Given the description of an element on the screen output the (x, y) to click on. 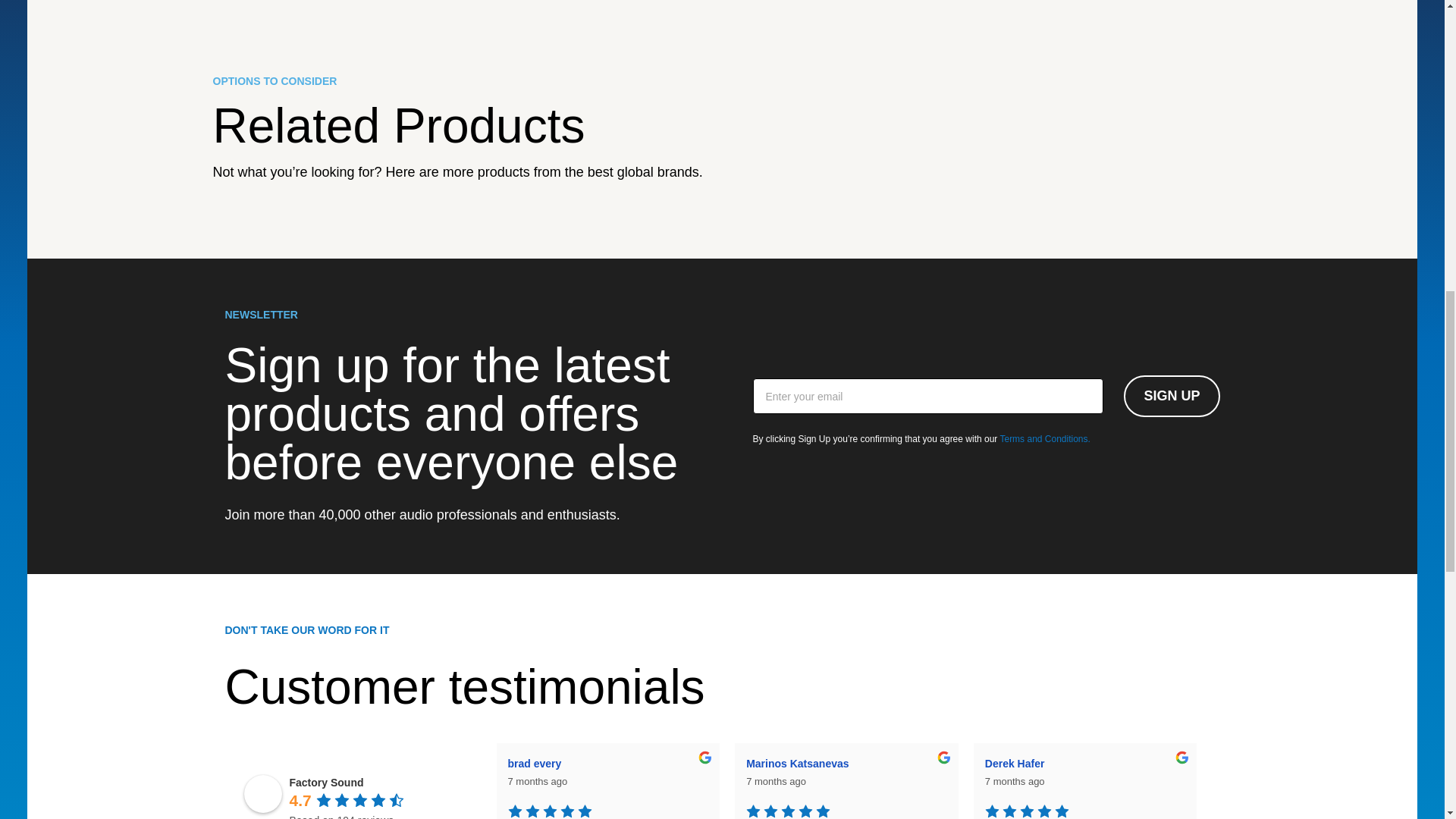
Factory Sound (263, 793)
